Given the description of an element on the screen output the (x, y) to click on. 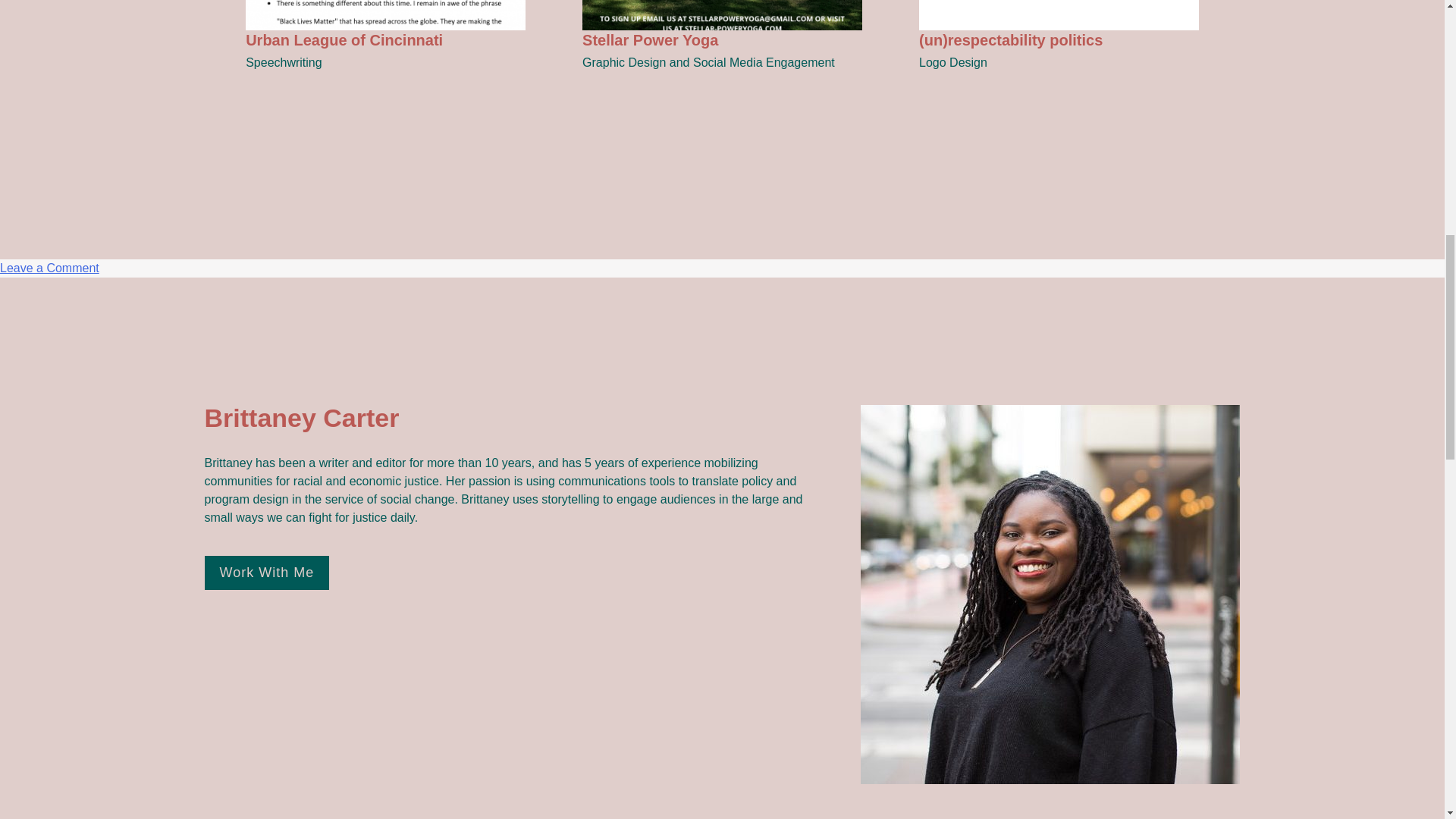
Work With Me (49, 267)
Stellar Power Yoga (267, 572)
Urban League of Cincinnati (721, 29)
